Given the description of an element on the screen output the (x, y) to click on. 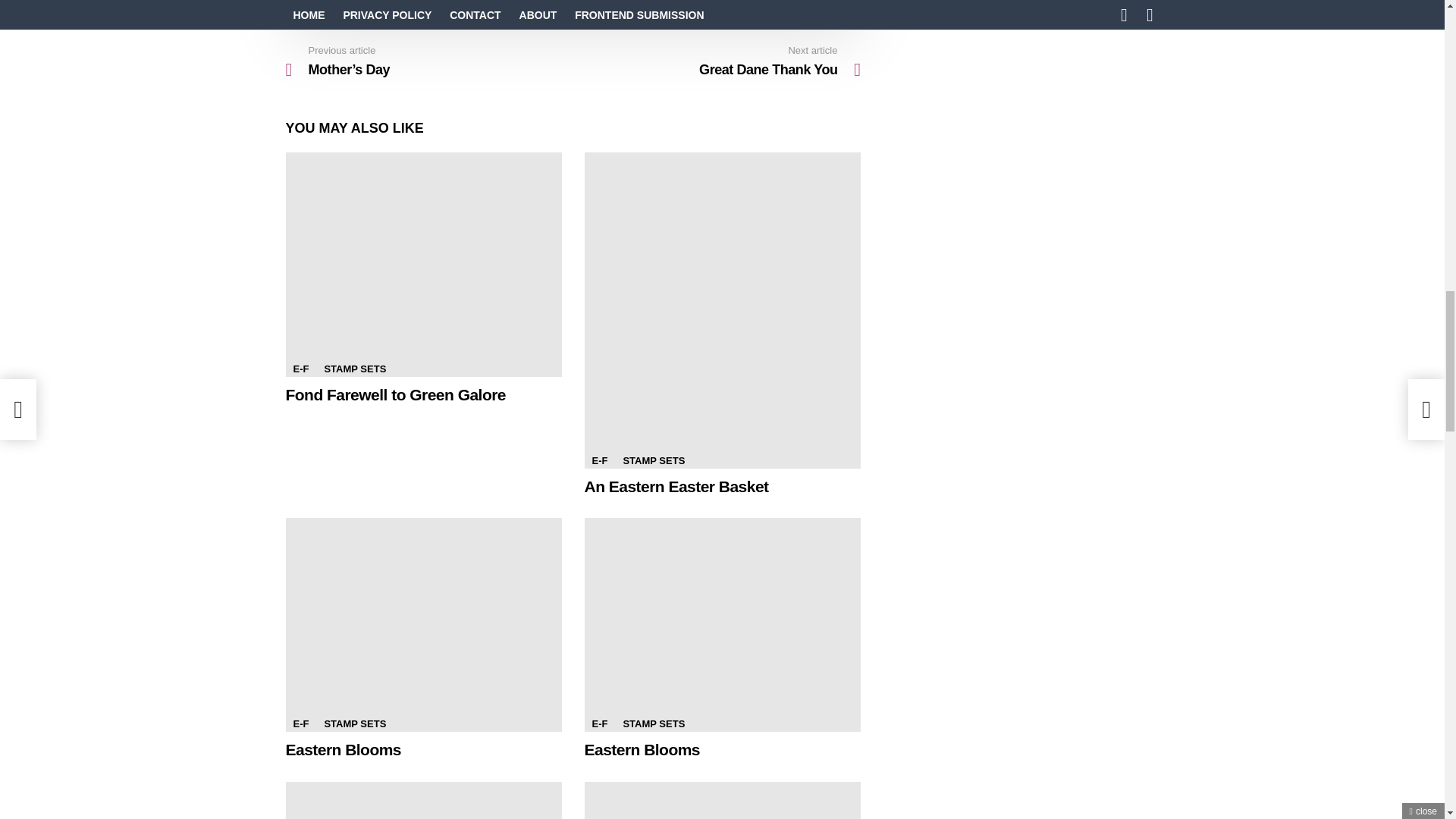
Eastern Blooms (422, 624)
E-F (300, 368)
An Eastern Easter Basket (675, 486)
STAMP SETS (653, 460)
Eastern Blooms (721, 624)
Fond Farewell to Green Galore (422, 264)
Fond Farewell to Green Galore (395, 394)
STAMP SETS (354, 368)
Eastern Blooms (343, 749)
E-F (300, 724)
STAMP SETS (354, 724)
Eastern Blooms (422, 800)
SASC26EasternBlooms01skdeleeuw (721, 800)
E-F (598, 460)
